Given the description of an element on the screen output the (x, y) to click on. 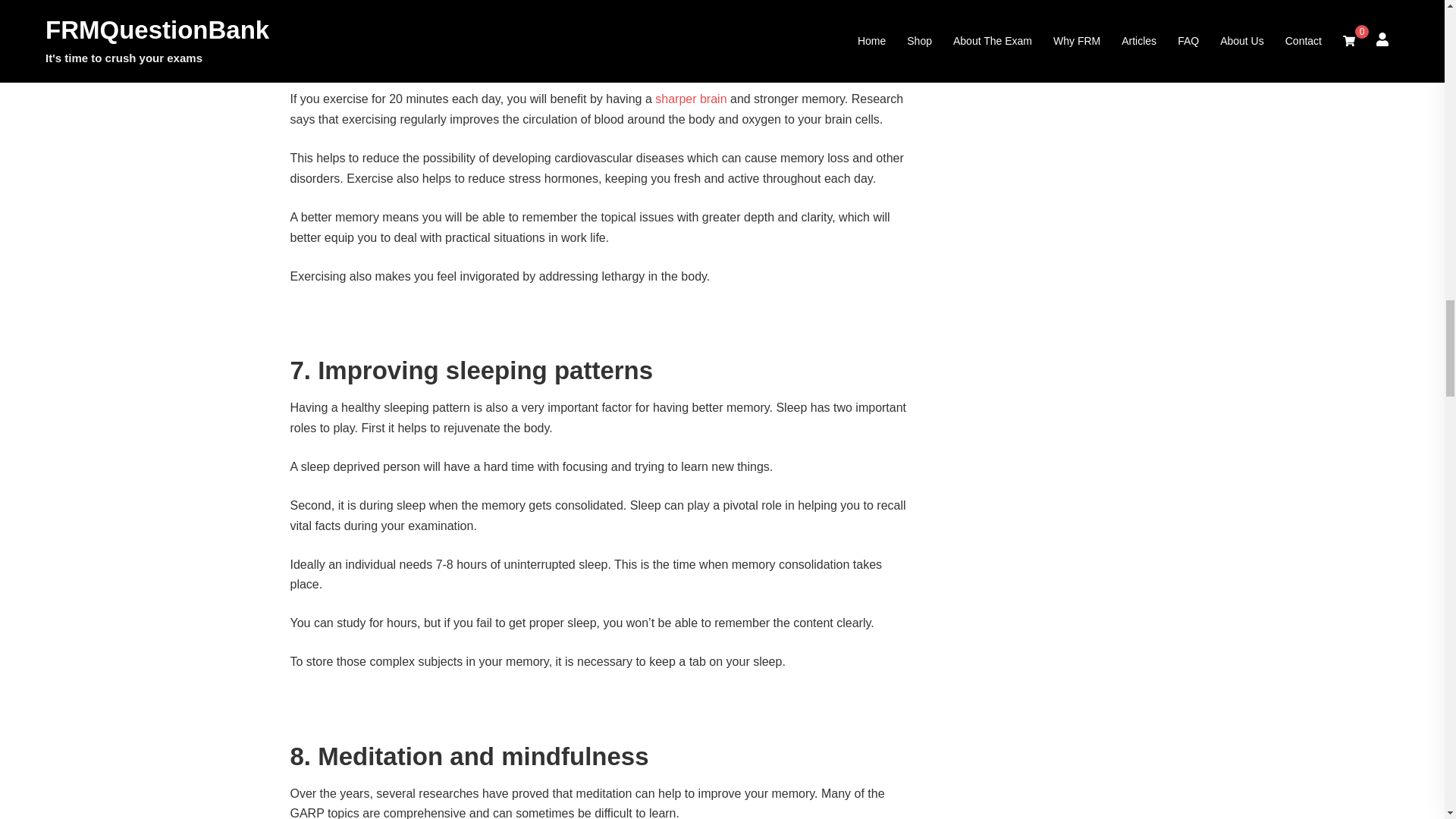
sharper brain (690, 98)
